Given the description of an element on the screen output the (x, y) to click on. 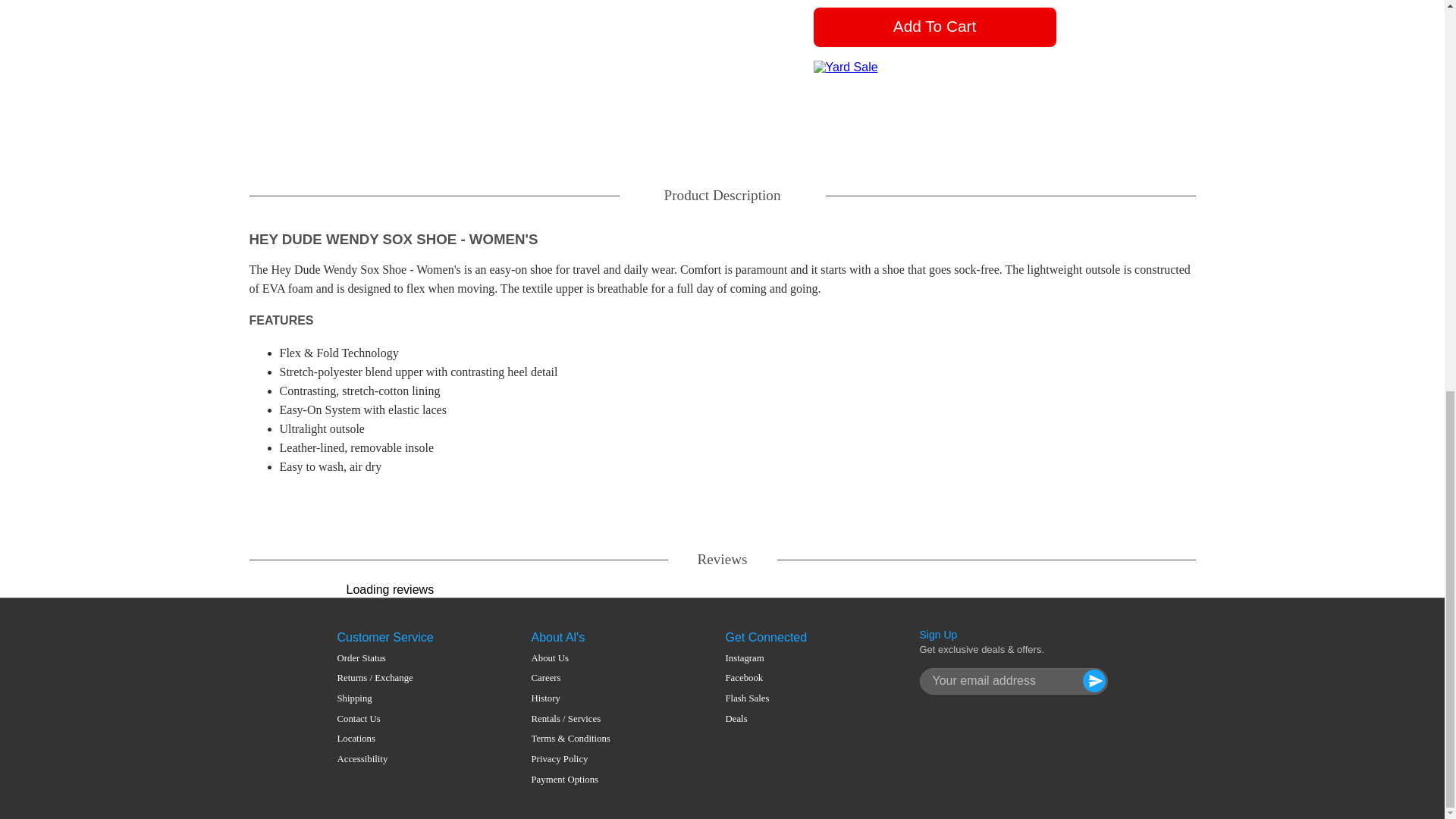
About Us (570, 658)
Shipping (374, 698)
History (570, 698)
Order Status (374, 658)
Contact Us (374, 718)
Accessibility (374, 758)
Add To Cart (933, 27)
Careers (570, 677)
Locations (374, 738)
